Given the description of an element on the screen output the (x, y) to click on. 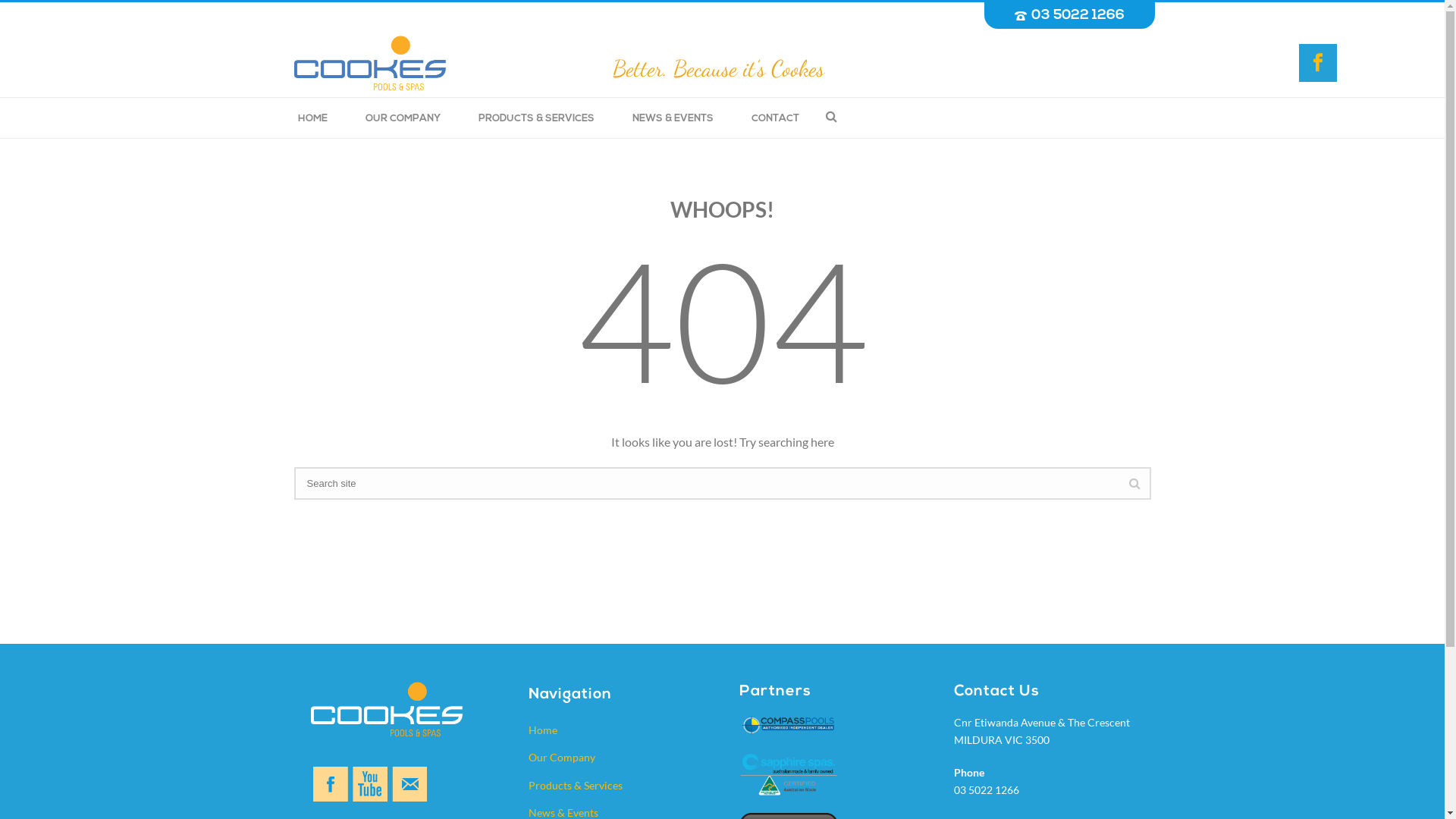
CONTACT Element type: text (775, 118)
facebook Element type: text (330, 783)
Our Company Element type: text (615, 757)
Home Element type: text (615, 730)
facebook Element type: hover (1317, 62)
youtube Element type: text (369, 783)
Cookes Pools & Spas Element type: hover (369, 62)
Email Element type: text (409, 783)
HOME Element type: text (312, 118)
NEWS & EVENTS Element type: text (671, 118)
OUR COMPANY Element type: text (401, 118)
PRODUCTS & SERVICES Element type: text (536, 118)
Products & Services Element type: text (615, 785)
